Given the description of an element on the screen output the (x, y) to click on. 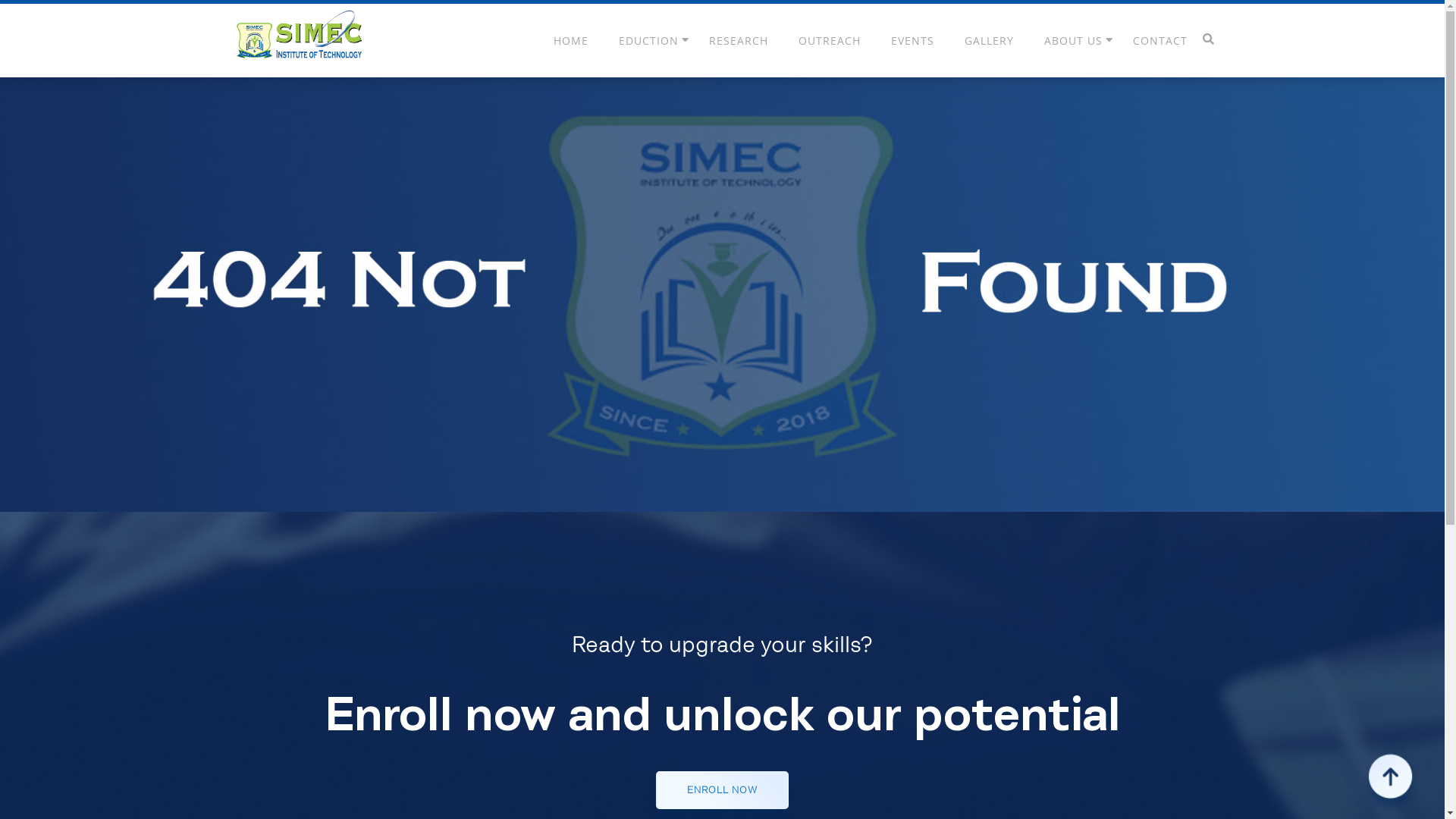
RESEARCH Element type: text (737, 40)
EVENTS Element type: text (911, 40)
OUTREACH Element type: text (828, 40)
ABOUT US Element type: text (1072, 40)
GALLERY Element type: text (989, 40)
ENROLL NOW Element type: text (721, 790)
CONTACT Element type: text (1159, 40)
EDUCTION Element type: text (648, 40)
ENROLL NOW Element type: text (721, 790)
HOME Element type: text (570, 40)
